Given the description of an element on the screen output the (x, y) to click on. 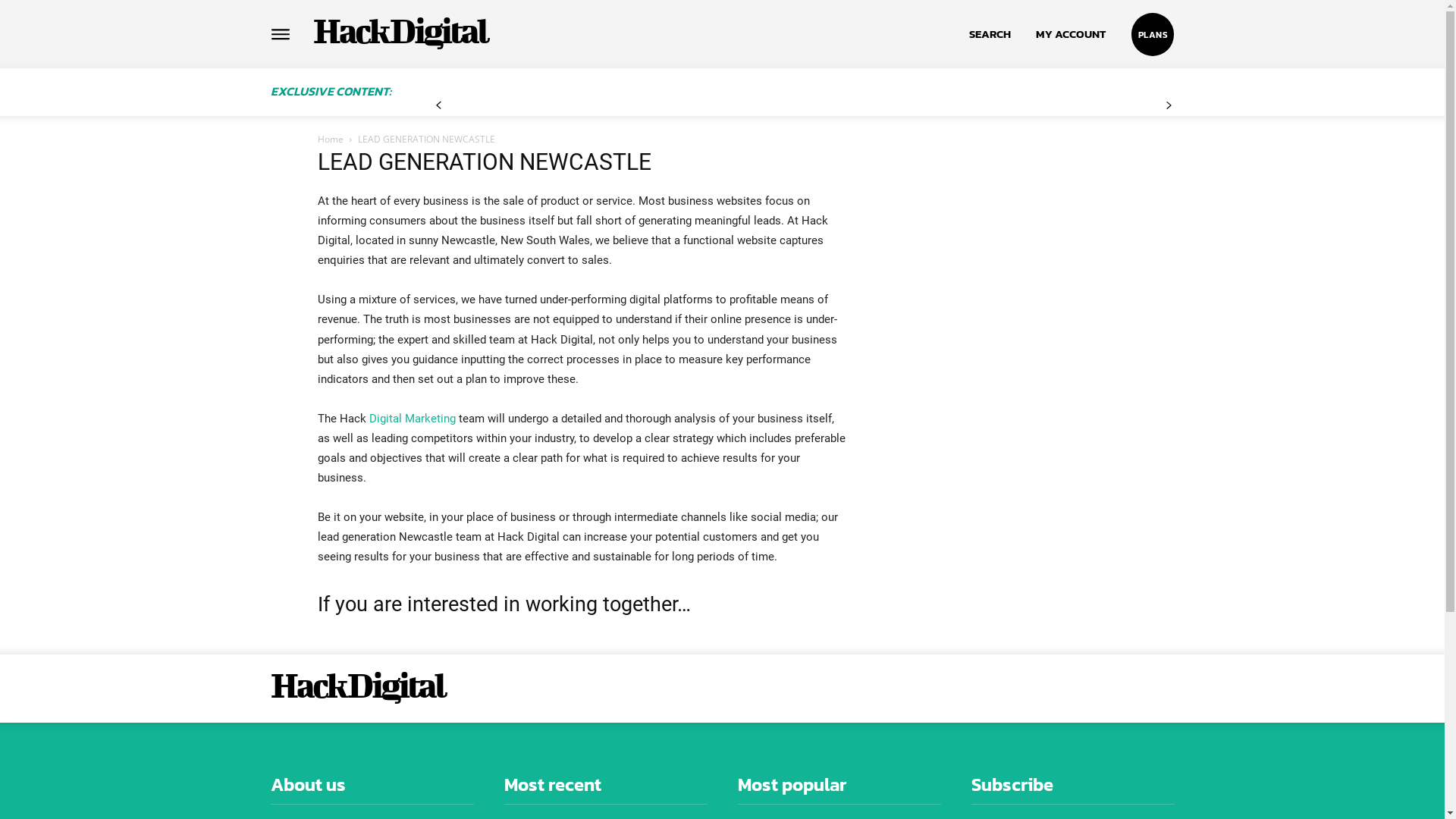
PLANS Element type: text (1152, 34)
Hack Digital Element type: text (399, 30)
Hack Digital Element type: text (356, 683)
SEARCH Element type: text (989, 34)
Digital Marketing Element type: text (411, 418)
Home Element type: text (329, 138)
